Given the description of an element on the screen output the (x, y) to click on. 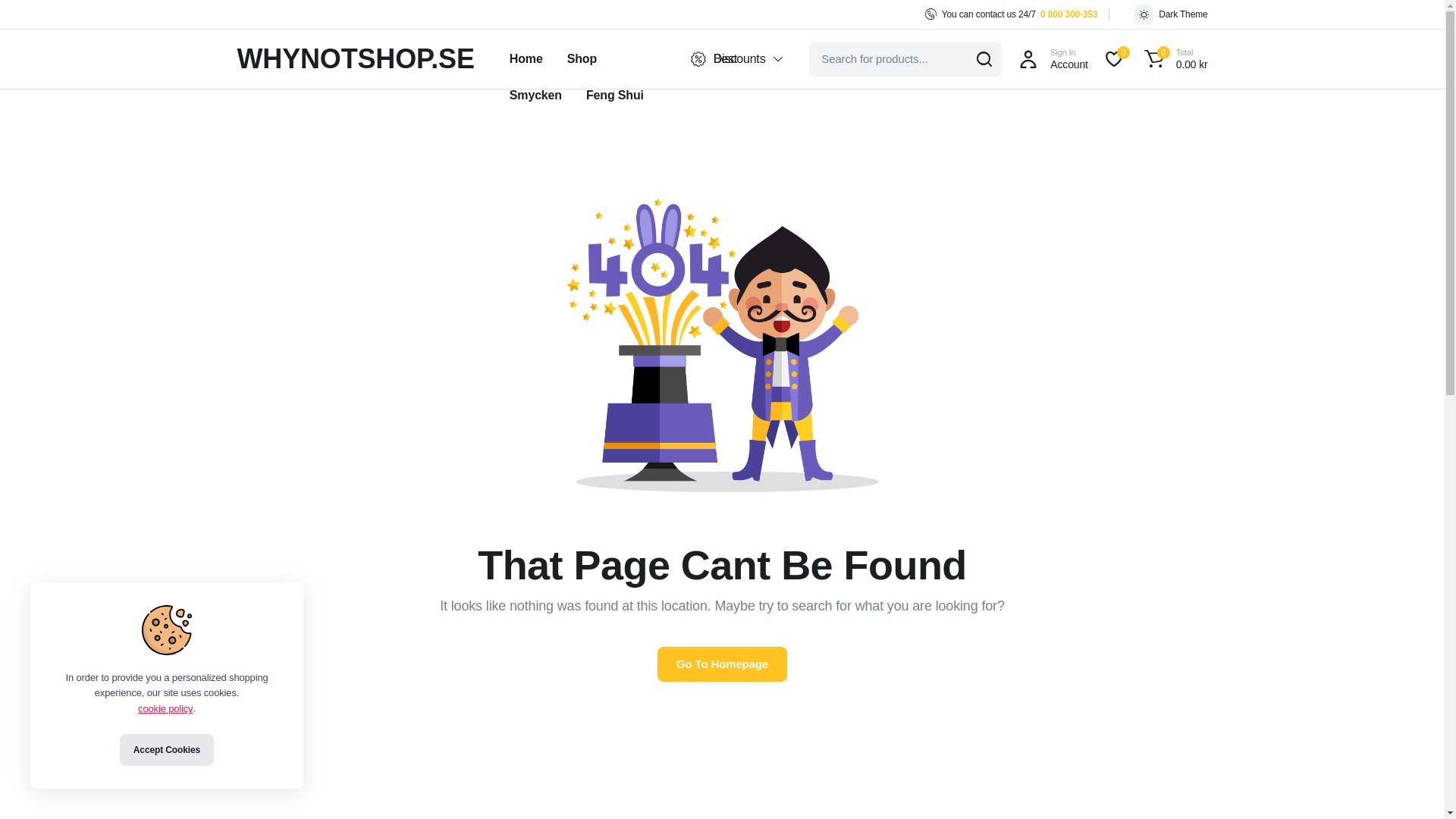
whynotshop.se (354, 59)
Go To Homepage (722, 664)
Best Discounts (735, 58)
WHYNOTSHOP.SE (354, 59)
Feng Shui (613, 94)
Dark Theme (1170, 14)
0 800 300-353 (1069, 14)
Shop (581, 58)
0 (1113, 59)
Home (526, 58)
